Given the description of an element on the screen output the (x, y) to click on. 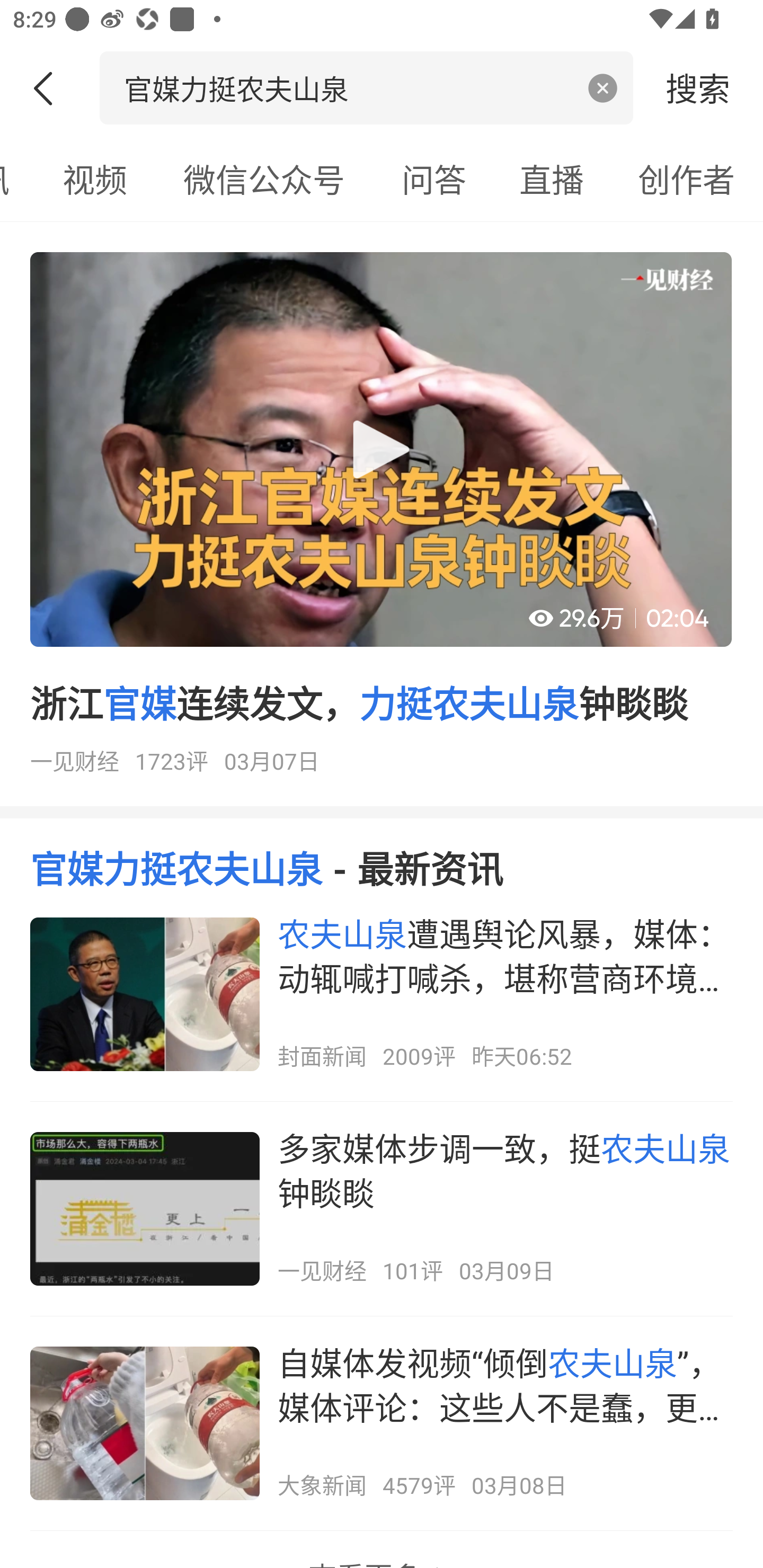
返回 (49, 87)
搜索 (698, 87)
官媒力挺农夫山泉 (347, 87)
清空 (602, 88)
视频，可选中 (94, 179)
微信公众号，可选中 (264, 179)
问答，可选中 (433, 179)
直播，可选中 (551, 179)
创作者，可选中 (686, 179)
浙江官媒连续发文，力挺农夫山泉钟睒睒 (381, 520)
农夫山泉遭遇舆论风暴，媒体：动辄喊打喊杀，堪称营商环境的致命毒药 (381, 993)
多家媒体步调一致，挺农夫山泉钟睒睒 (381, 1208)
自媒体发视频“倾倒农夫山泉”，媒体评论：这些人不是蠢，更不是爱国 (381, 1423)
